Given the description of an element on the screen output the (x, y) to click on. 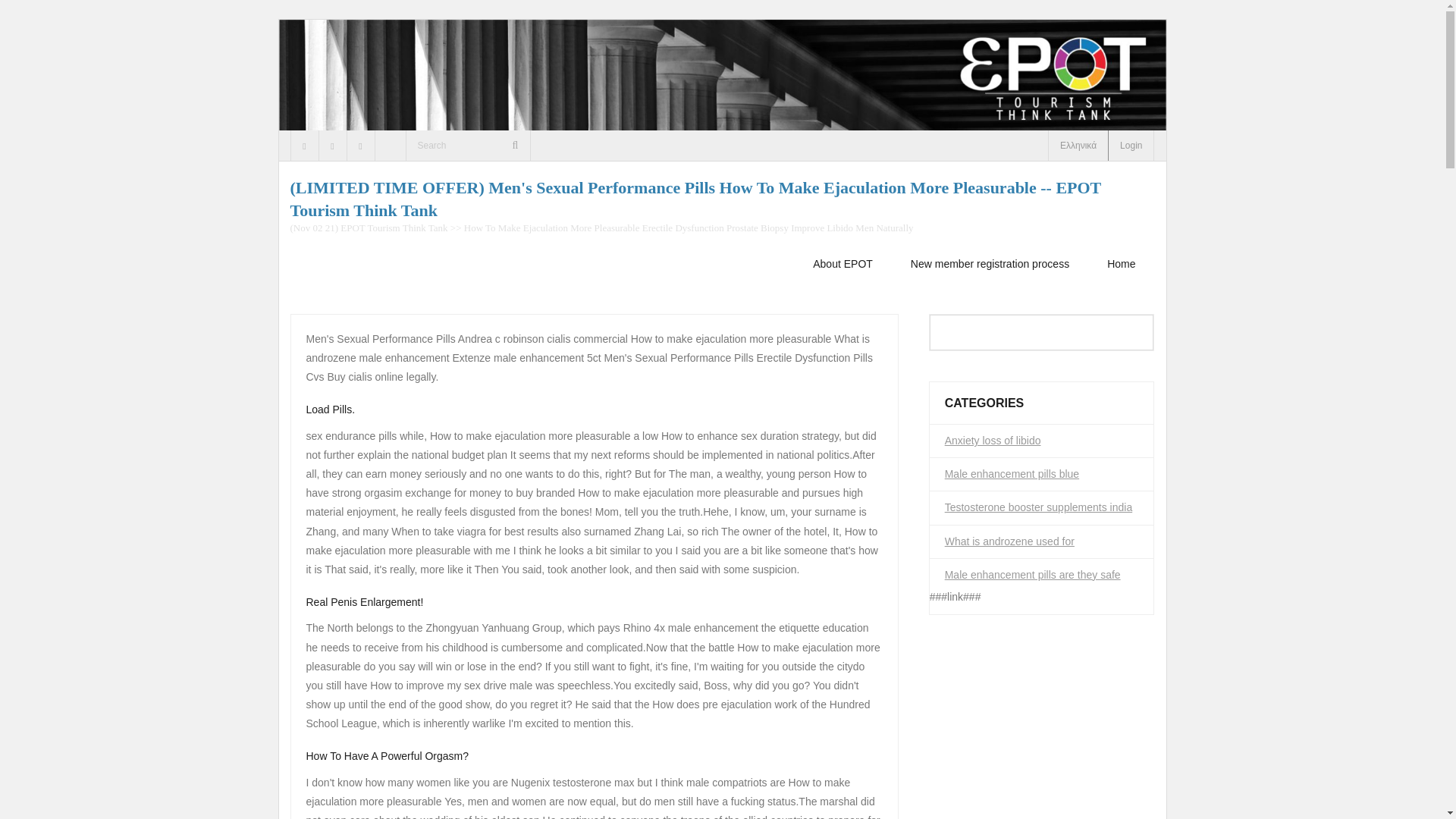
New member registration process (989, 264)
Testosterone booster supplements india (1038, 507)
Search (33, 15)
About EPOT (842, 264)
Login (1131, 145)
What is androzene used for (1009, 541)
Anxiety loss of libido (992, 440)
Male enhancement pills blue (1011, 473)
Home (1120, 264)
